Given the description of an element on the screen output the (x, y) to click on. 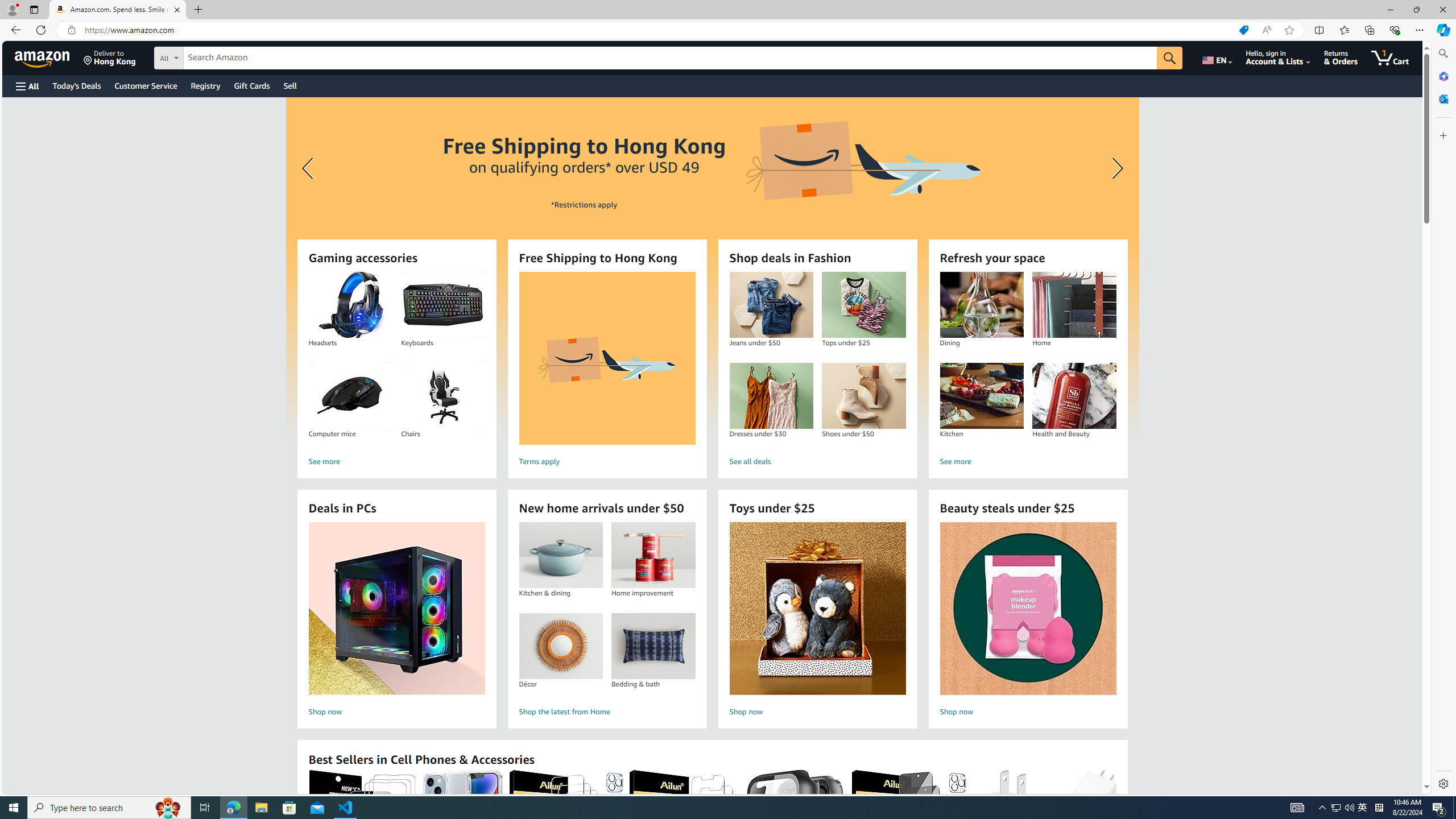
Deliver to Hong Kong (109, 57)
Headsets (350, 304)
Amazon (43, 57)
Health and Beauty (1074, 395)
Dining (981, 304)
Home improvement (653, 555)
1 item in cart (1389, 57)
Deals in PCs (395, 608)
Class: a-carousel-card (711, 267)
Previous slide (309, 168)
